Given the description of an element on the screen output the (x, y) to click on. 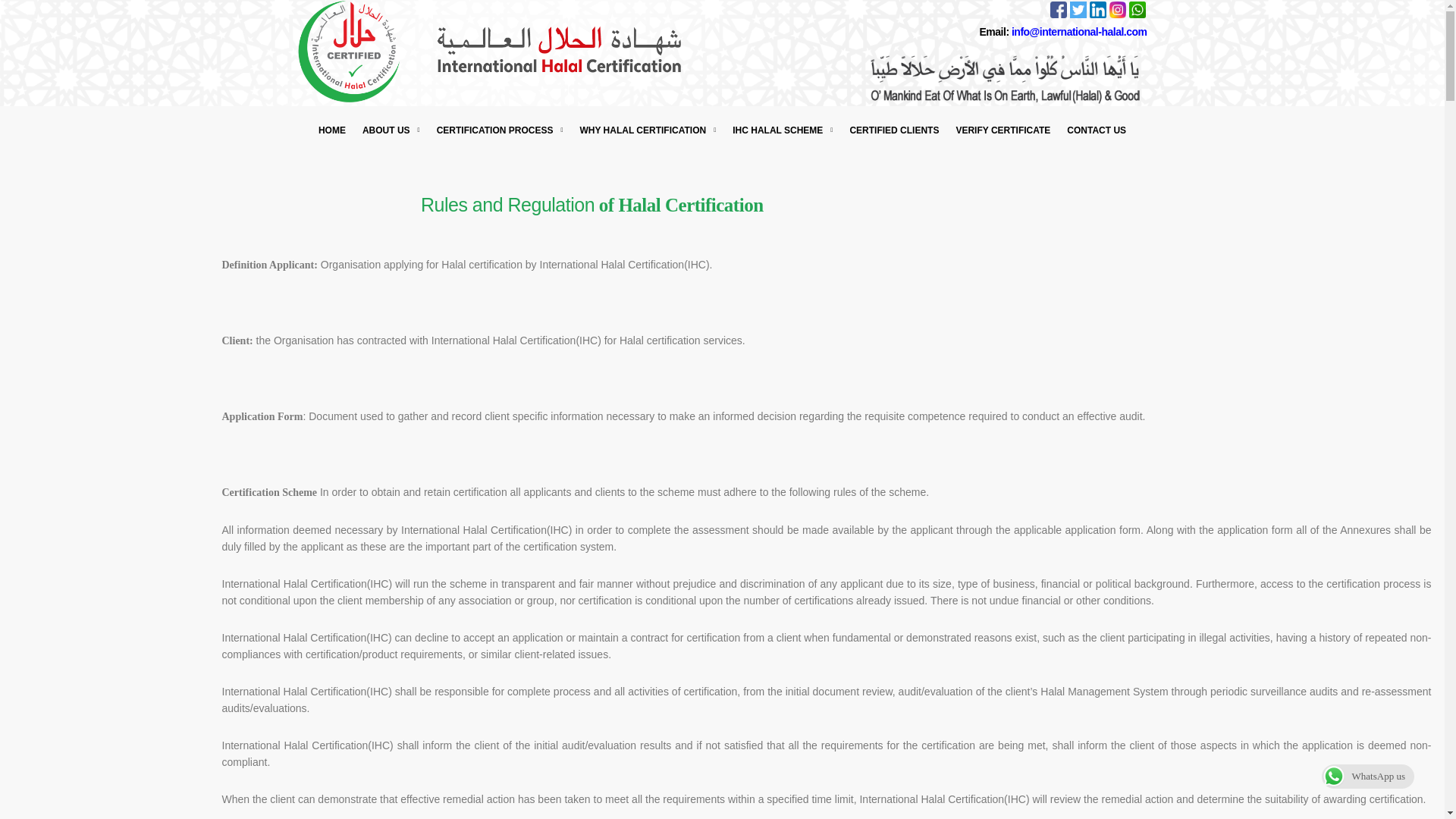
HOME (331, 130)
WhatsApp (1136, 9)
Twitter (1077, 9)
Linkedin (1097, 9)
IHC HALAL SCHEME (782, 130)
CERTIFIED CLIENTS (894, 130)
Instagram (1116, 16)
Instagram (1116, 9)
CERTIFICATION PROCESS (500, 130)
VERIFY CERTIFICATE (1002, 130)
WHY HALAL CERTIFICATION (646, 130)
Twitter (1077, 16)
WhatsApp (1136, 16)
facebook (1057, 9)
CONTACT US (1096, 130)
